Given the description of an element on the screen output the (x, y) to click on. 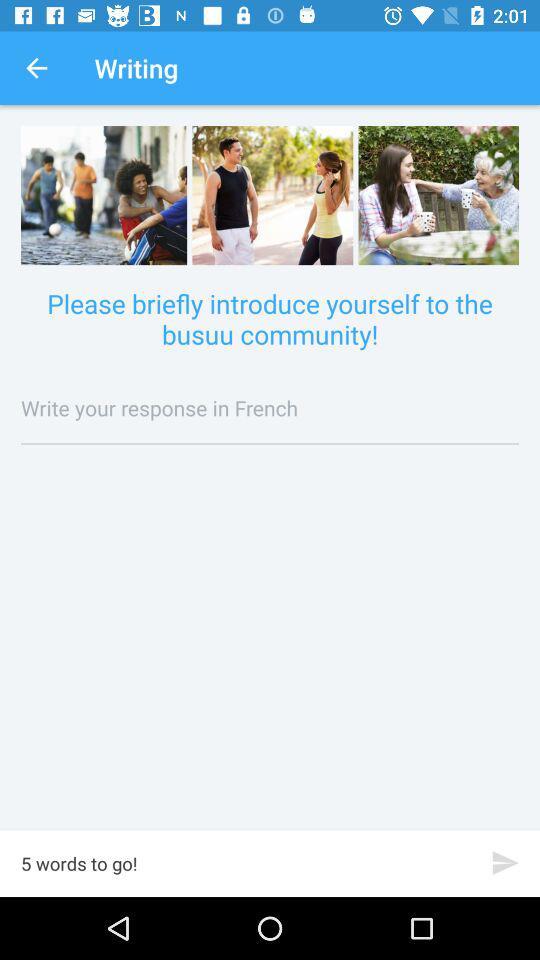
open icon to the left of writing icon (36, 68)
